Given the description of an element on the screen output the (x, y) to click on. 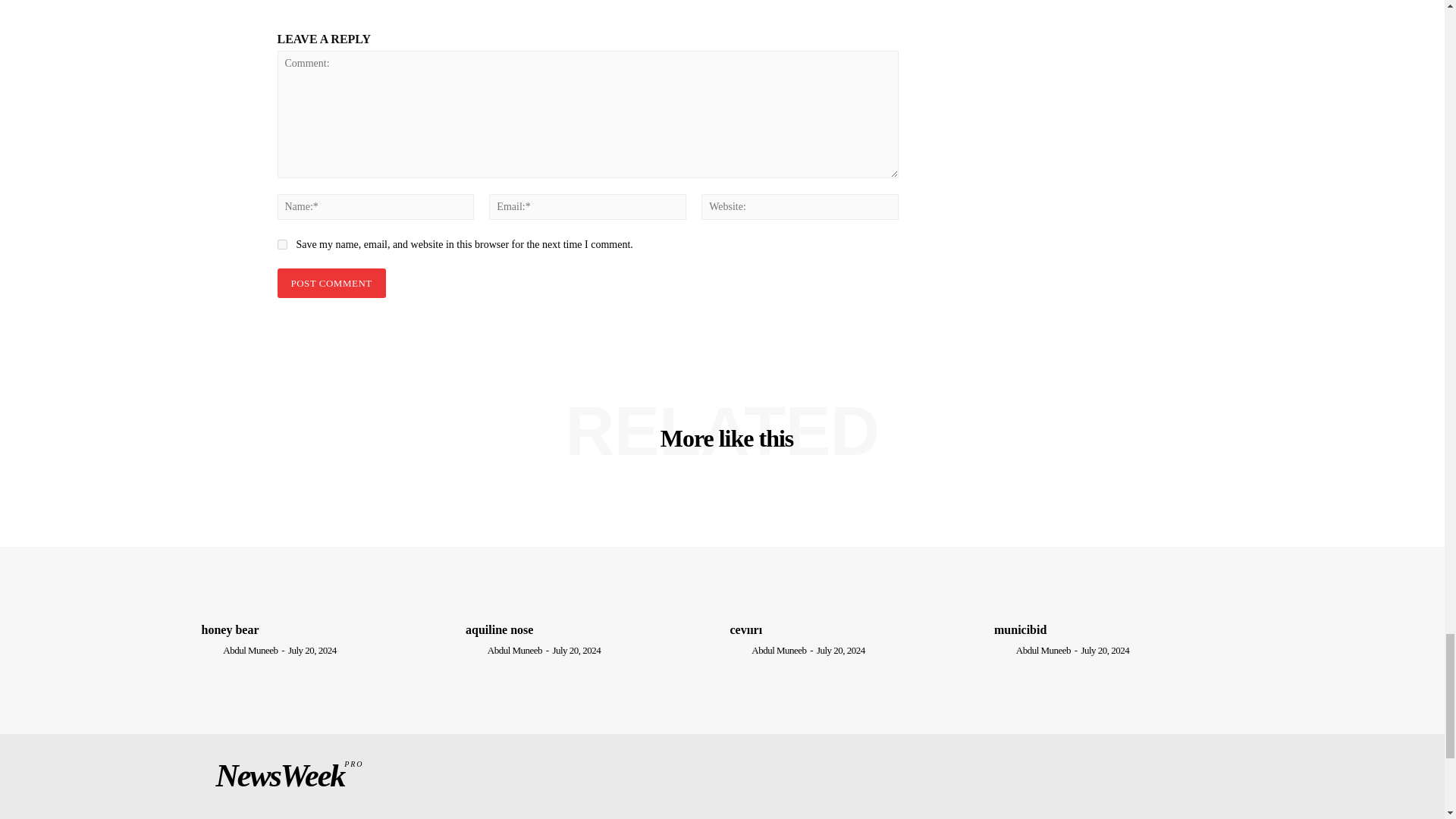
yes (282, 244)
Post Comment (331, 283)
